Given the description of an element on the screen output the (x, y) to click on. 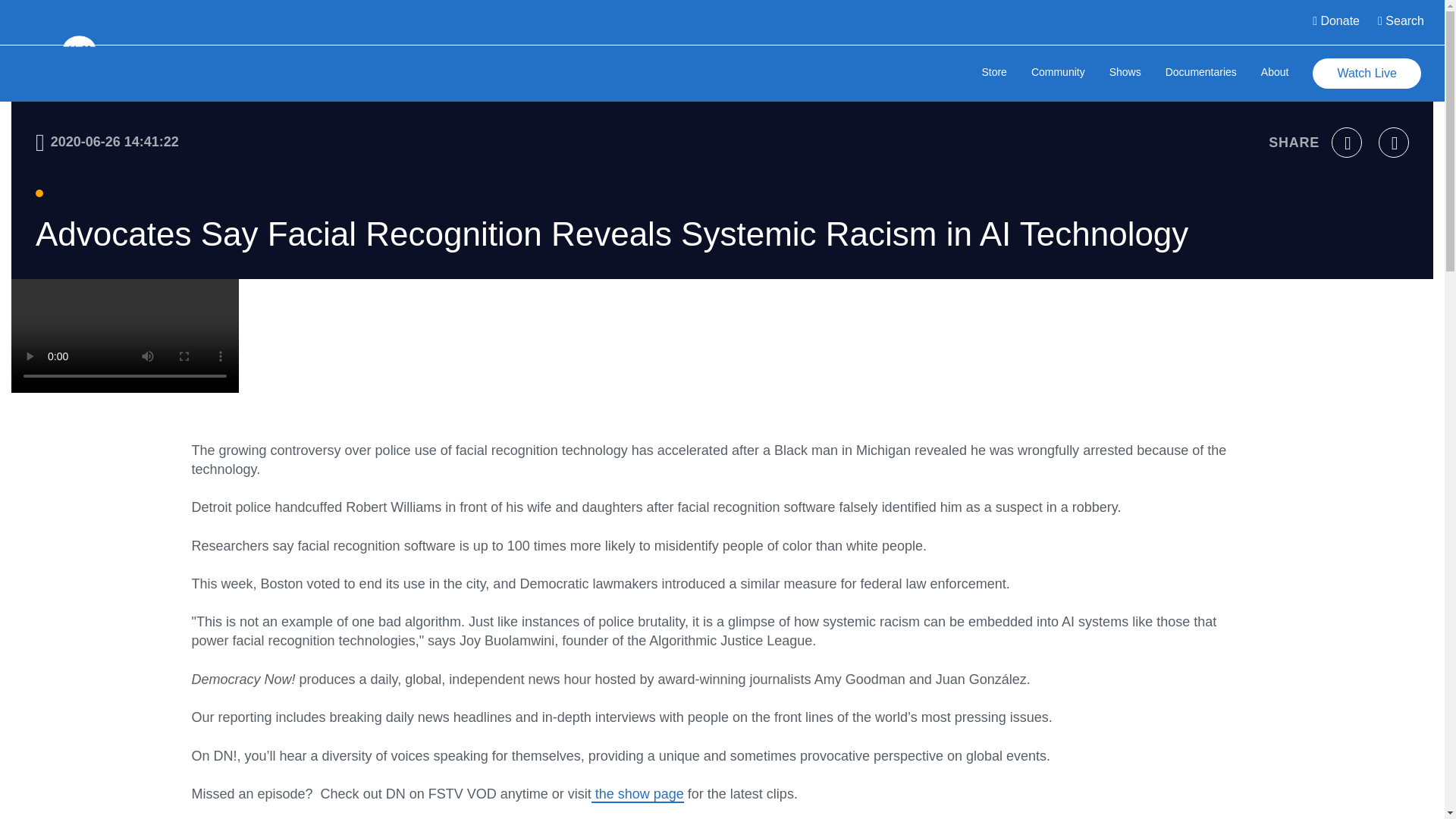
Donate (1335, 22)
Community (1057, 72)
Watch Live (1367, 73)
Documentaries (1201, 72)
Search (1400, 22)
